Given the description of an element on the screen output the (x, y) to click on. 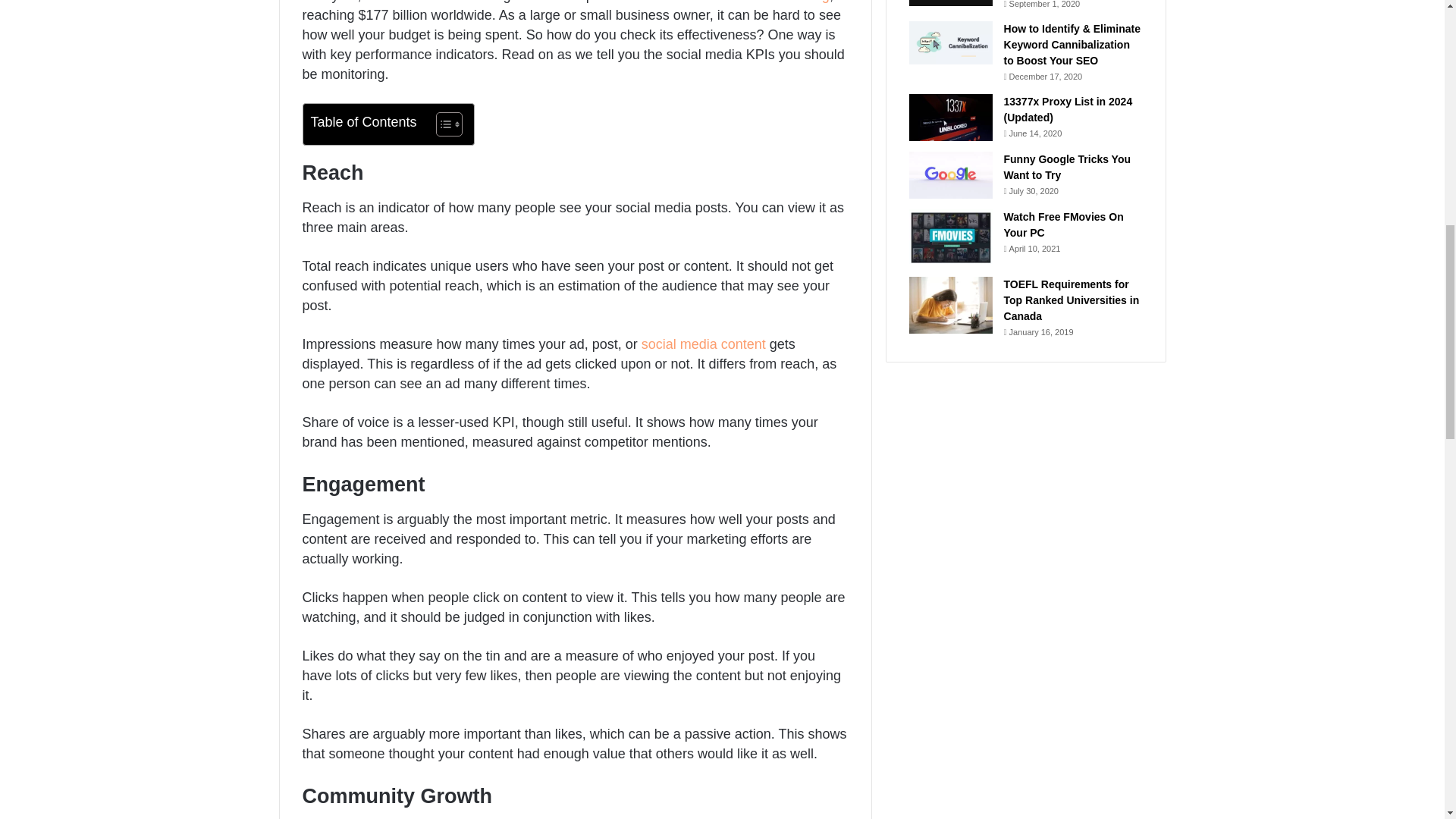
revenue of television advertising (731, 1)
social media content (703, 344)
